Given the description of an element on the screen output the (x, y) to click on. 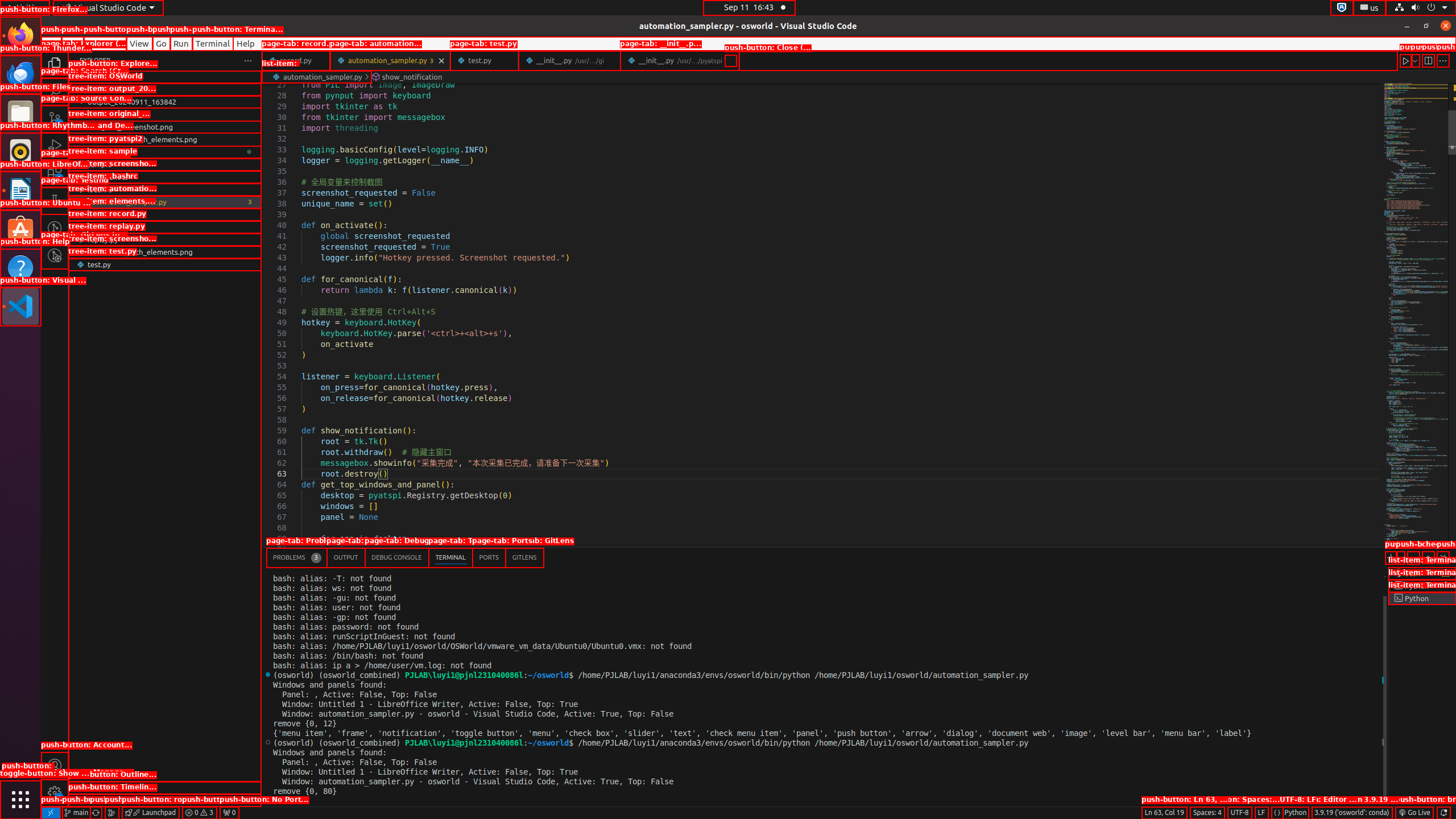
OSWorld Element type: tree-item (164, 89)
